Given the description of an element on the screen output the (x, y) to click on. 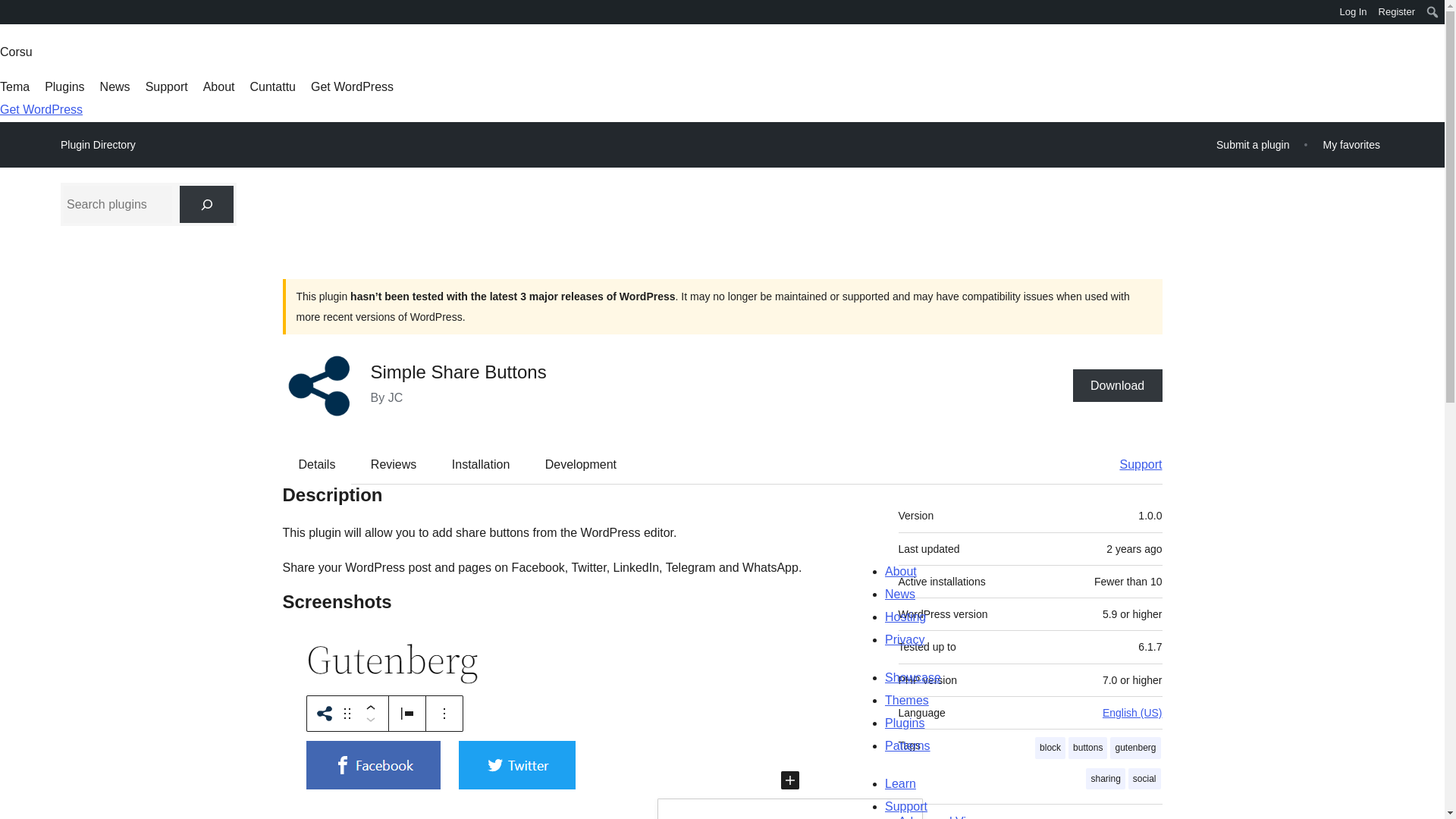
Search (16, 13)
Development (580, 464)
WordPress.org (10, 16)
WordPress.org (10, 10)
Details (316, 464)
Log In (1353, 12)
Register (1397, 12)
Support (166, 87)
Installation (480, 464)
My favorites (1351, 144)
Get WordPress (41, 109)
Plugin Directory (97, 144)
About (218, 87)
Support (1132, 464)
Reviews (392, 464)
